Given the description of an element on the screen output the (x, y) to click on. 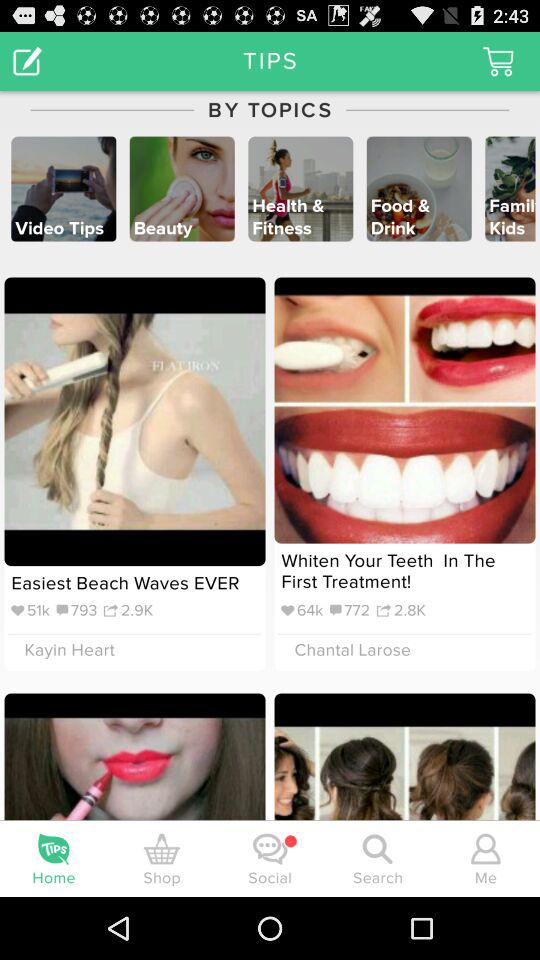
write post button (27, 60)
